Given the description of an element on the screen output the (x, y) to click on. 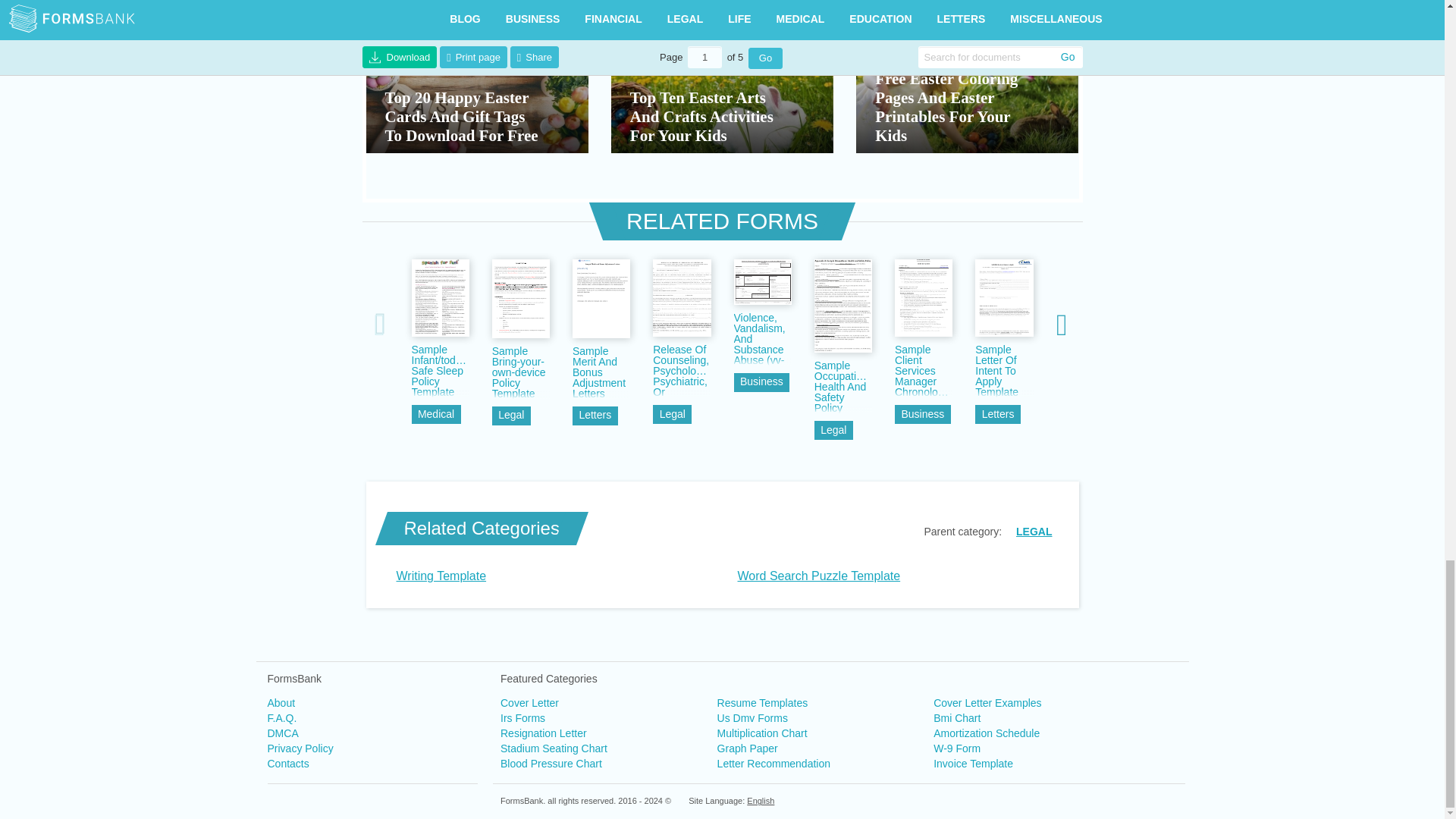
Top Ten Easter Arts And Crafts Activities For Your Kids (721, 96)
Sample Client Services Manager Chronological Resume Template (923, 370)
Legal (833, 429)
Sample Bring-your-own-device Policy Template (521, 371)
Medical (435, 414)
Medical (435, 414)
Sample Bring-your-own-device Policy Template (521, 371)
Legal (511, 415)
Letters (594, 415)
